Given the description of an element on the screen output the (x, y) to click on. 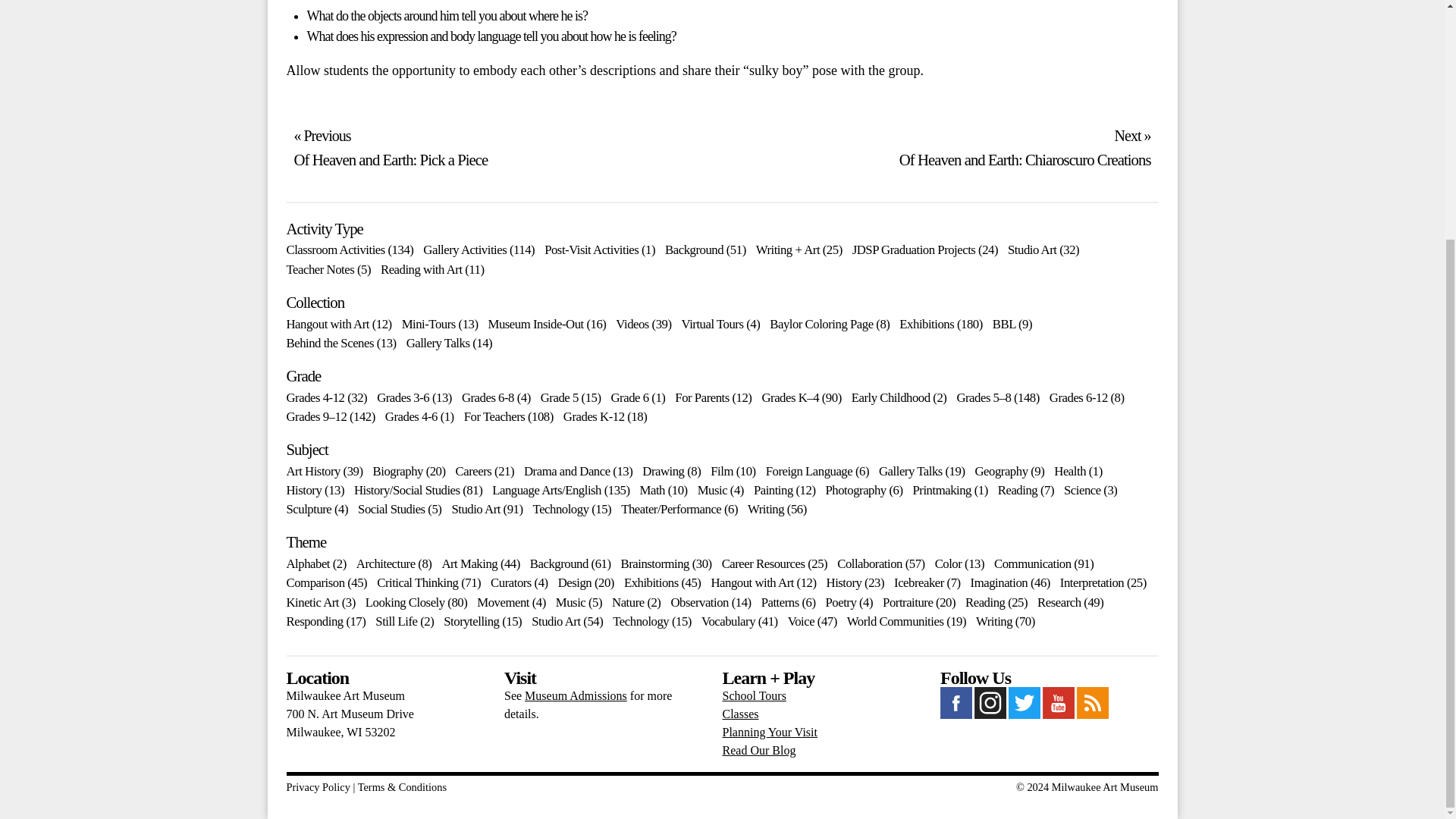
Classroom Activities (335, 249)
Subscribe to MAM on YouTube (1058, 714)
Follow MAM on Instagra (990, 714)
Follow MAM on Facebook (956, 714)
Read Our Blog (758, 749)
Follow MAM on Twitter (1025, 714)
Post-Visit Activities (591, 249)
RSS Feed (1092, 714)
Teacher Notes (320, 269)
Studio Art (1032, 249)
